Given the description of an element on the screen output the (x, y) to click on. 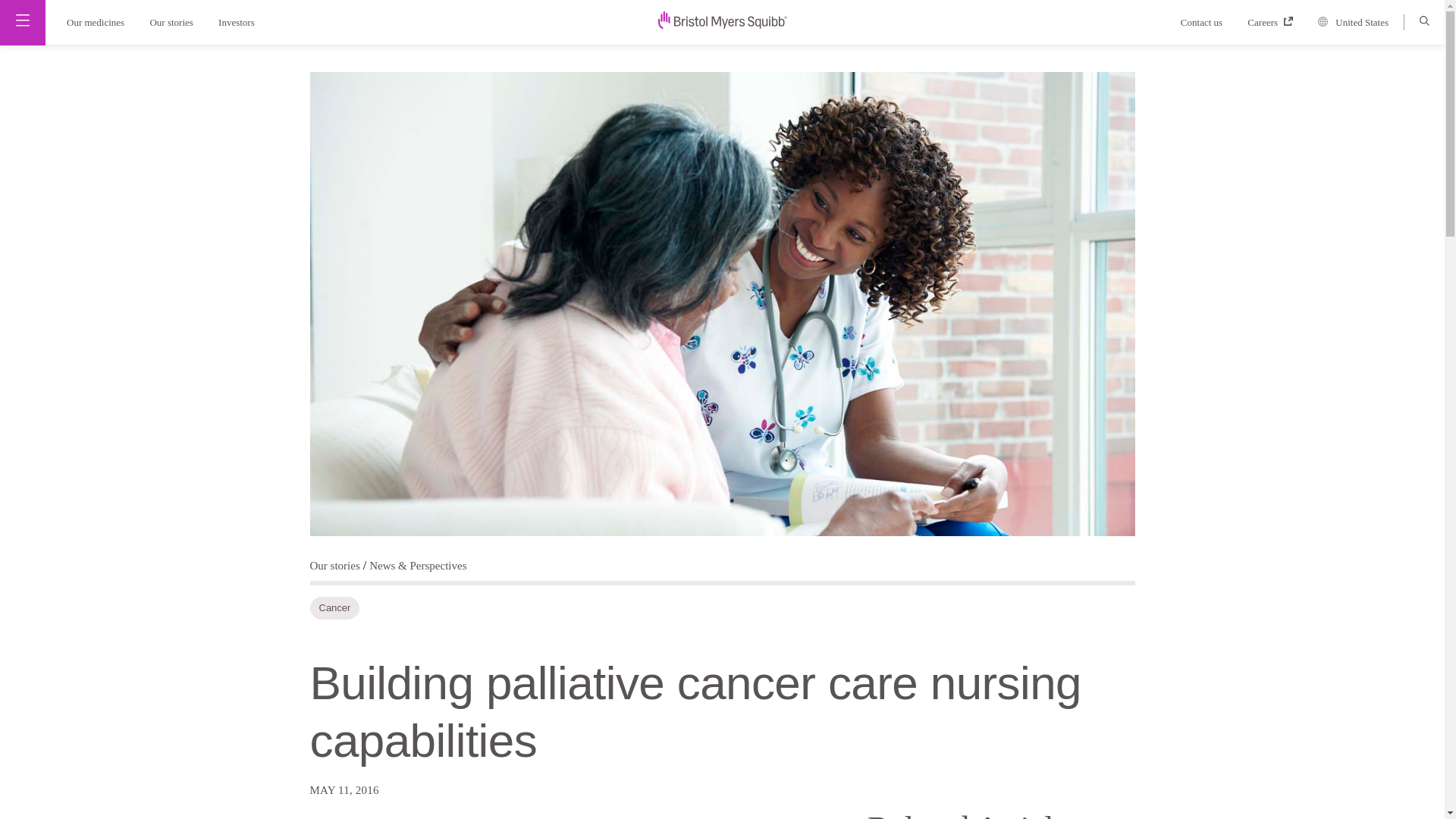
United States (1359, 22)
Our medicines (91, 21)
Our stories (172, 21)
Careers (1276, 21)
Investors (241, 21)
Contact us (1208, 21)
null (722, 19)
bms (722, 24)
Main Menu (22, 20)
